Given the description of an element on the screen output the (x, y) to click on. 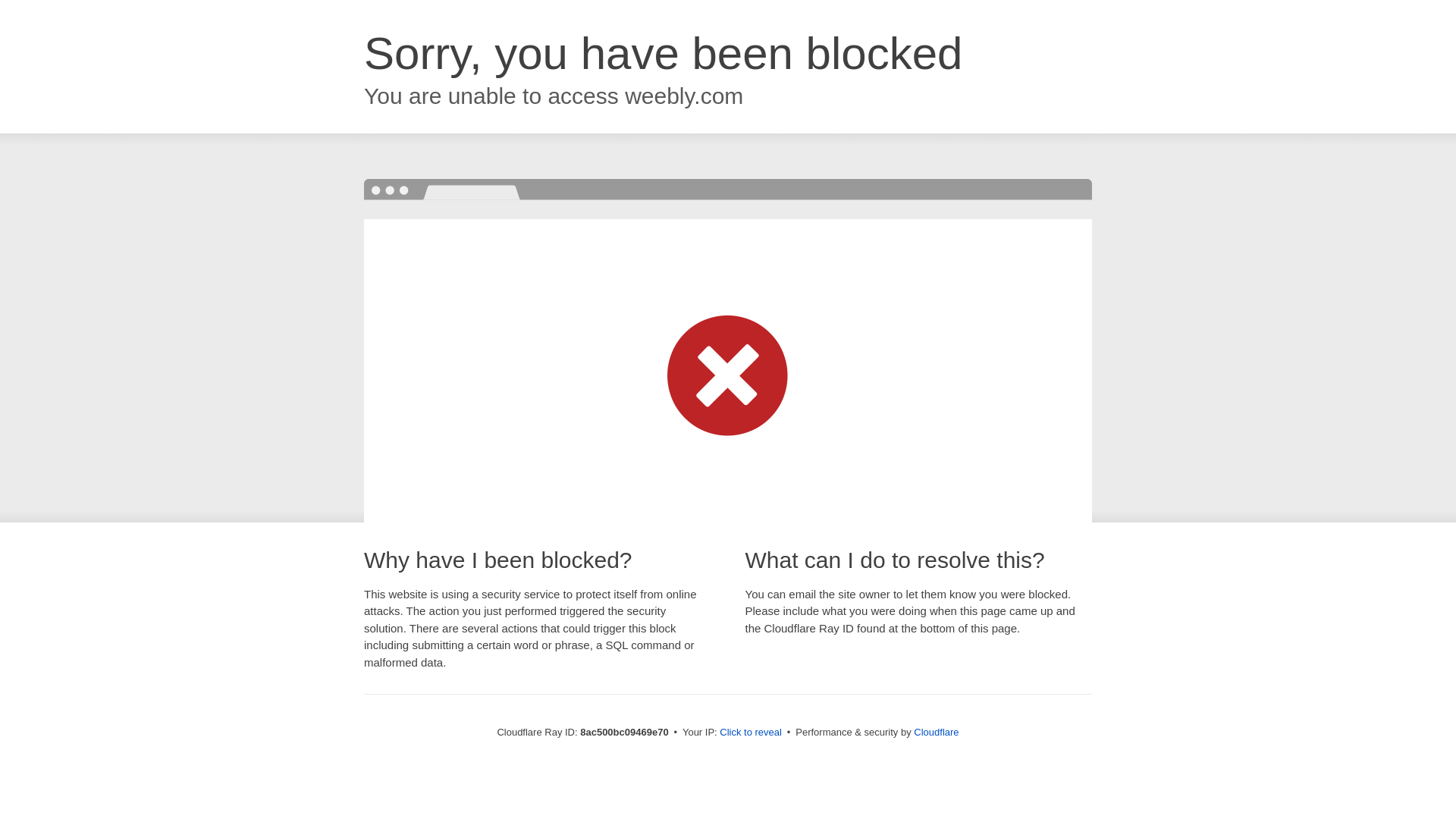
Click to reveal (750, 732)
Cloudflare (936, 731)
